Given the description of an element on the screen output the (x, y) to click on. 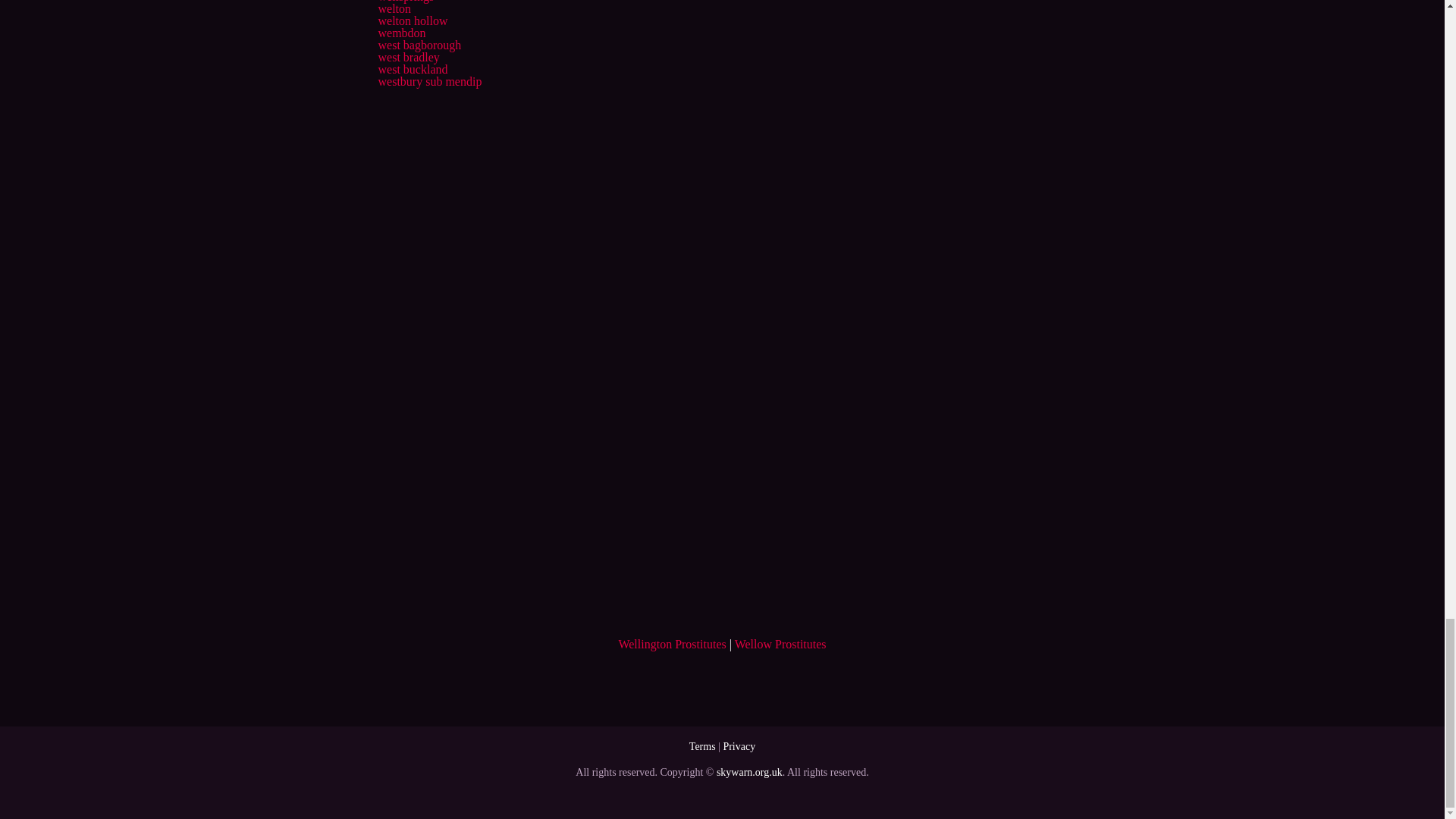
west bagborough (419, 44)
Terms (702, 746)
skywarn.org.uk (749, 772)
west bradley (408, 56)
Privacy (738, 746)
welton (393, 8)
Privacy (738, 746)
Terms (702, 746)
westbury sub mendip (429, 81)
wembdon (401, 32)
